Given the description of an element on the screen output the (x, y) to click on. 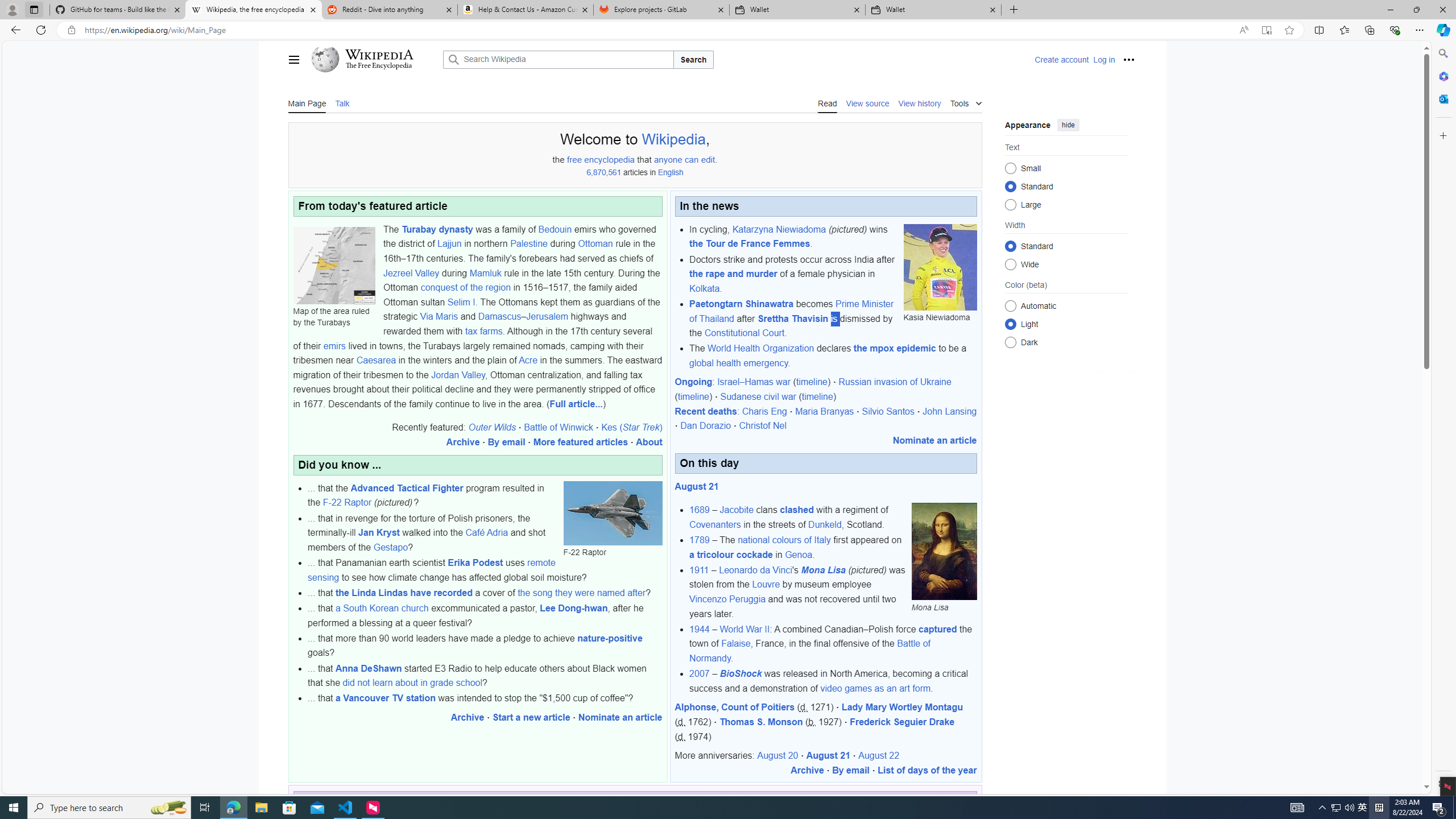
Silvio Santos (888, 411)
Map of the area ruled by the Turabays (333, 265)
Main Page (307, 102)
the song they were named after (581, 592)
Outer Wilds (491, 427)
Talk (341, 102)
video games as an art form (874, 688)
Search Wikipedia (558, 59)
captured (937, 628)
Dark (1010, 341)
Covenanters (714, 524)
Automatic (1010, 305)
Start a new article (531, 716)
